Given the description of an element on the screen output the (x, y) to click on. 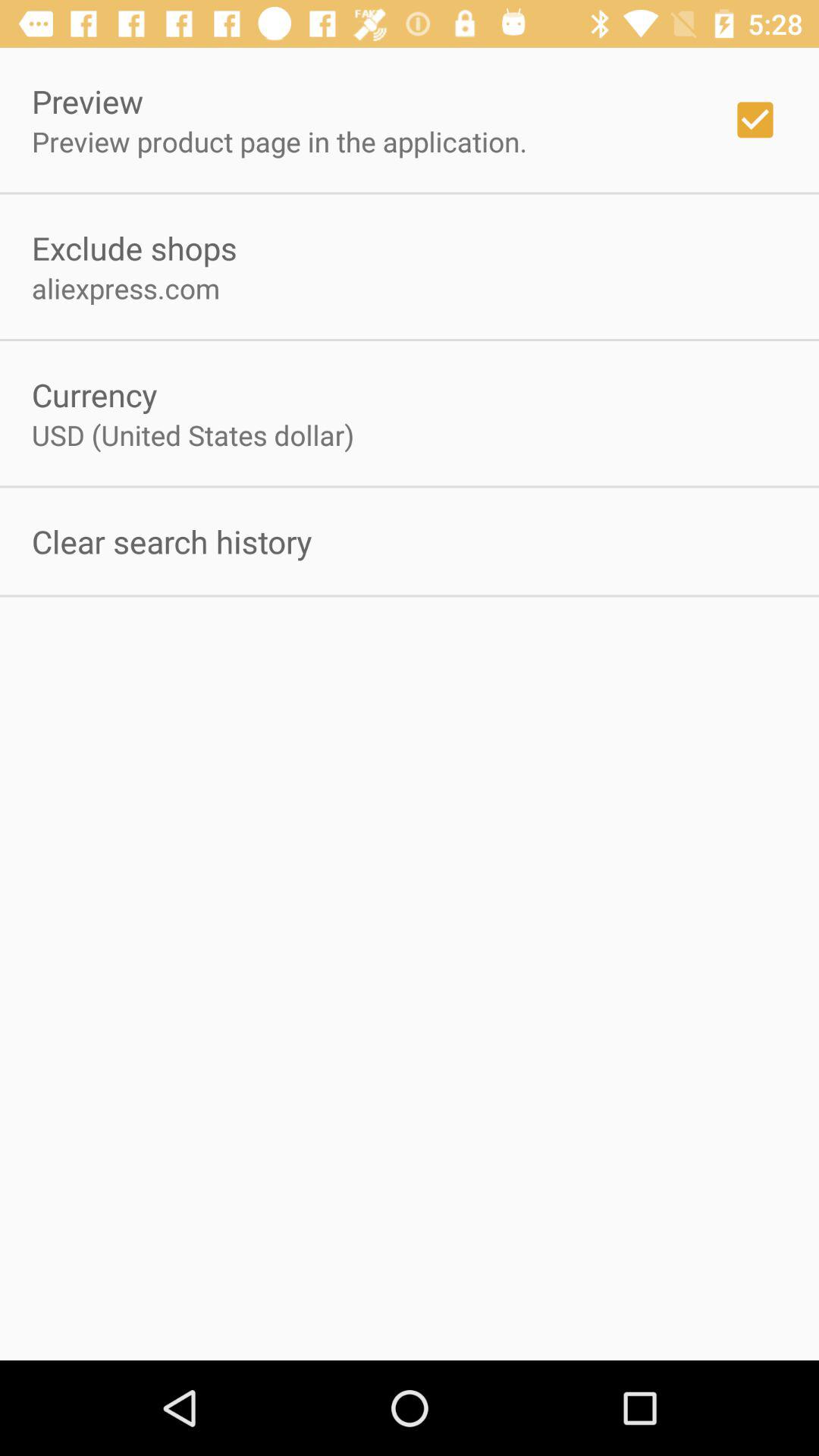
flip to usd united states (192, 434)
